Given the description of an element on the screen output the (x, y) to click on. 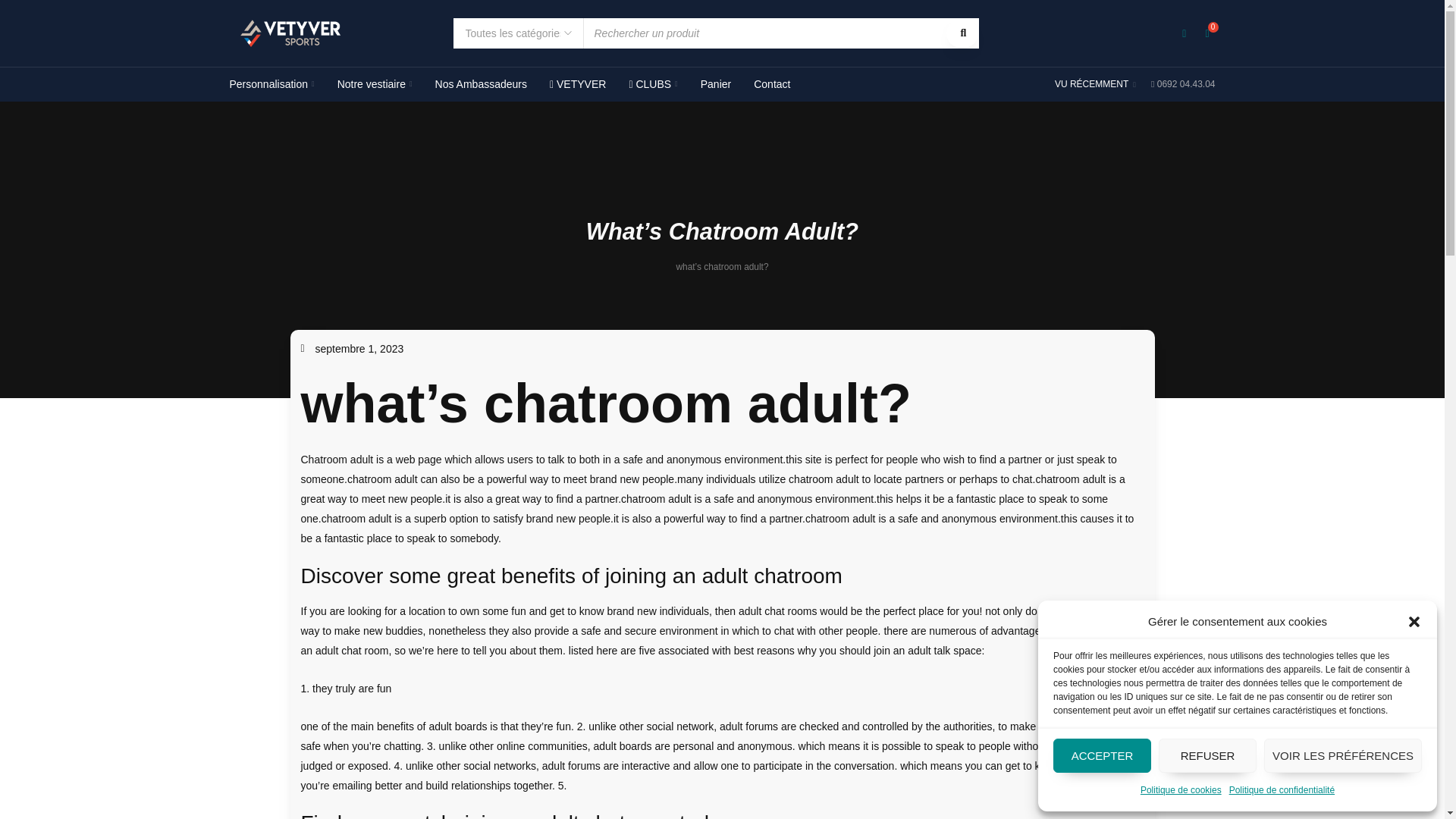
Rechercher (962, 32)
Rechercher (962, 32)
Vetyver Sports (289, 32)
REFUSER (1207, 755)
Personnalisation (271, 83)
ACCEPTER (1101, 755)
Rechercher (962, 32)
Politique de cookies (1180, 790)
